Given the description of an element on the screen output the (x, y) to click on. 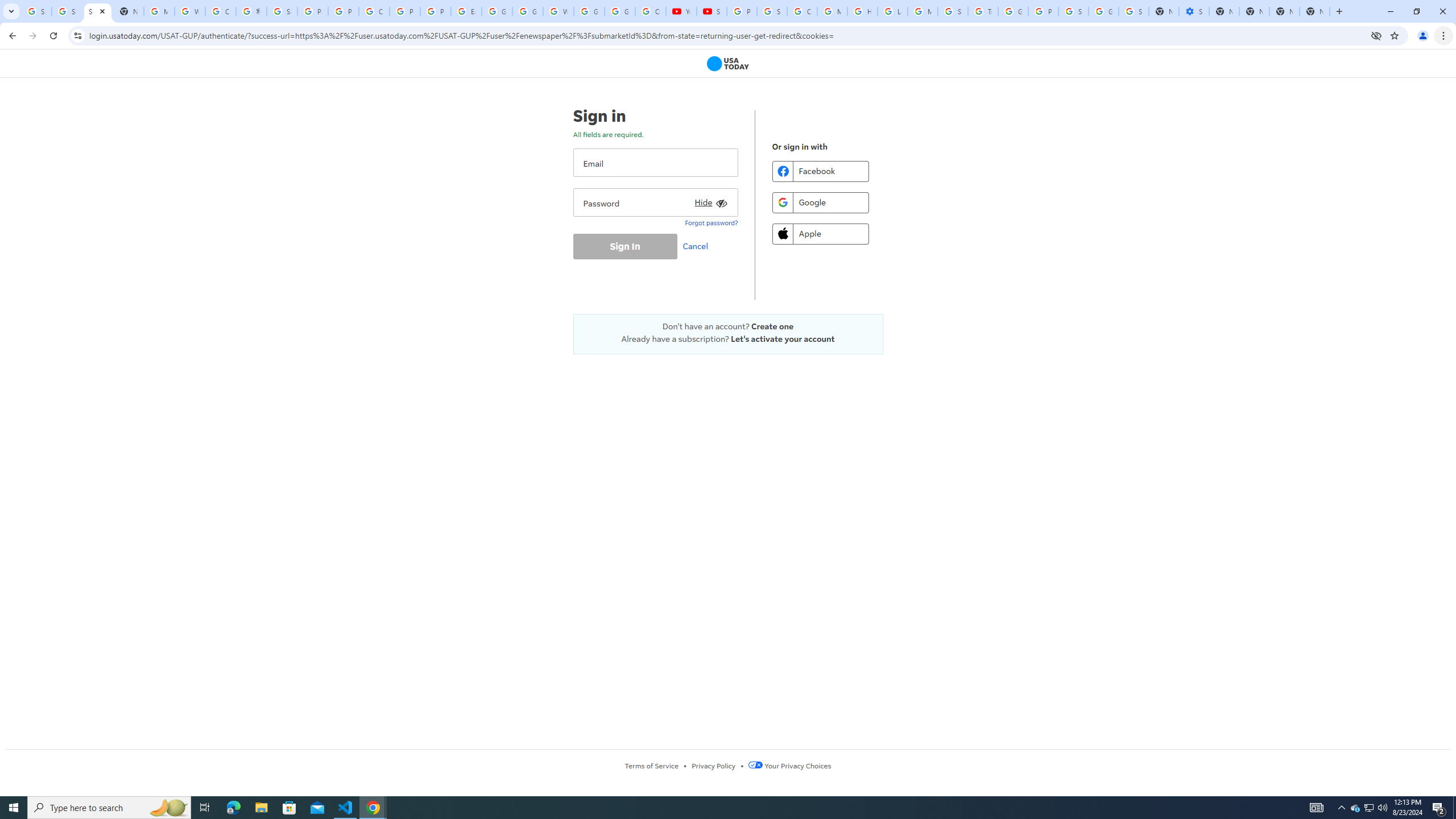
Cancel (697, 245)
YouTube (681, 11)
Subscriptions - YouTube (711, 11)
Sign in - Google Accounts (66, 11)
USA TODAY (727, 64)
